Given the description of an element on the screen output the (x, y) to click on. 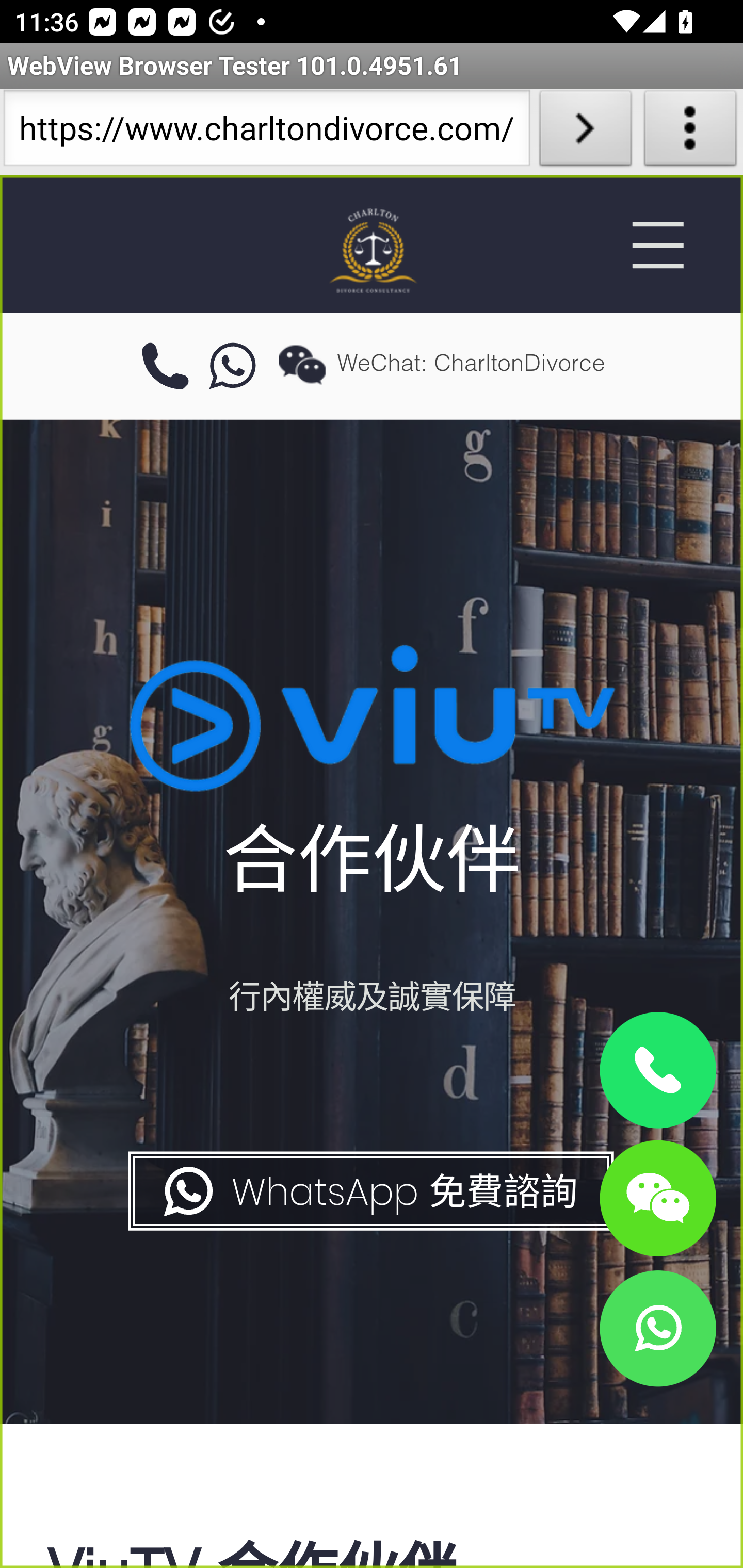
Load URL (585, 132)
About WebView (690, 132)
Open navigation menu (657, 245)
500x500 沒背景.png (371, 249)
tel:+852 9692 7577 (164, 366)
o7rumn (232, 366)
wechat2_edited_edited.png (301, 364)
Phone (657, 1070)
WeChat: CharltonDivorce (657, 1196)
WhatsApp 免費諮詢 (369, 1191)
WhatsApp (657, 1327)
